Given the description of an element on the screen output the (x, y) to click on. 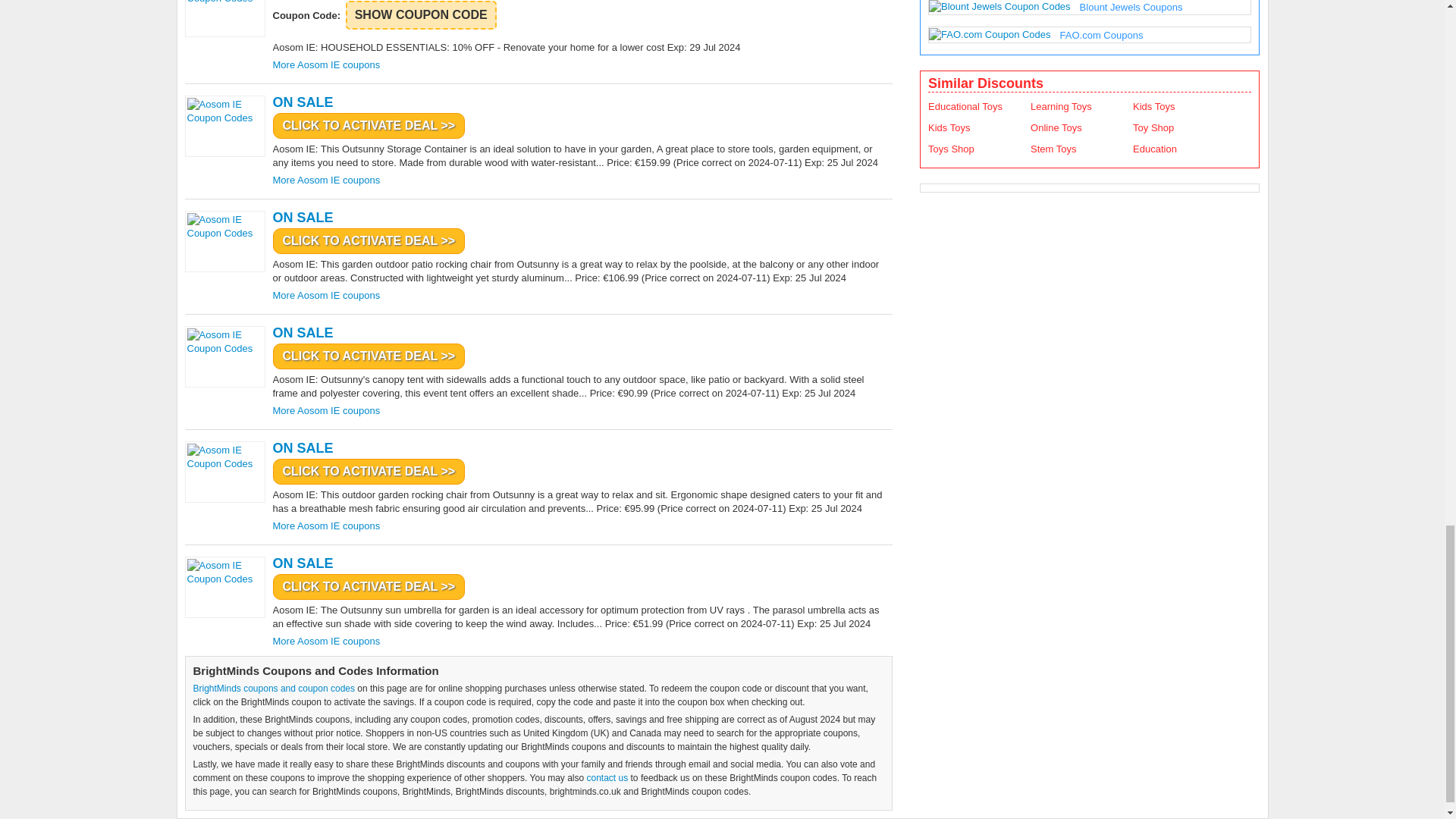
ON SALE (580, 101)
Aosom IE Coupon Codes (224, 18)
More Aosom IE coupons (326, 64)
SHOW COUPON CODE (421, 14)
